Given the description of an element on the screen output the (x, y) to click on. 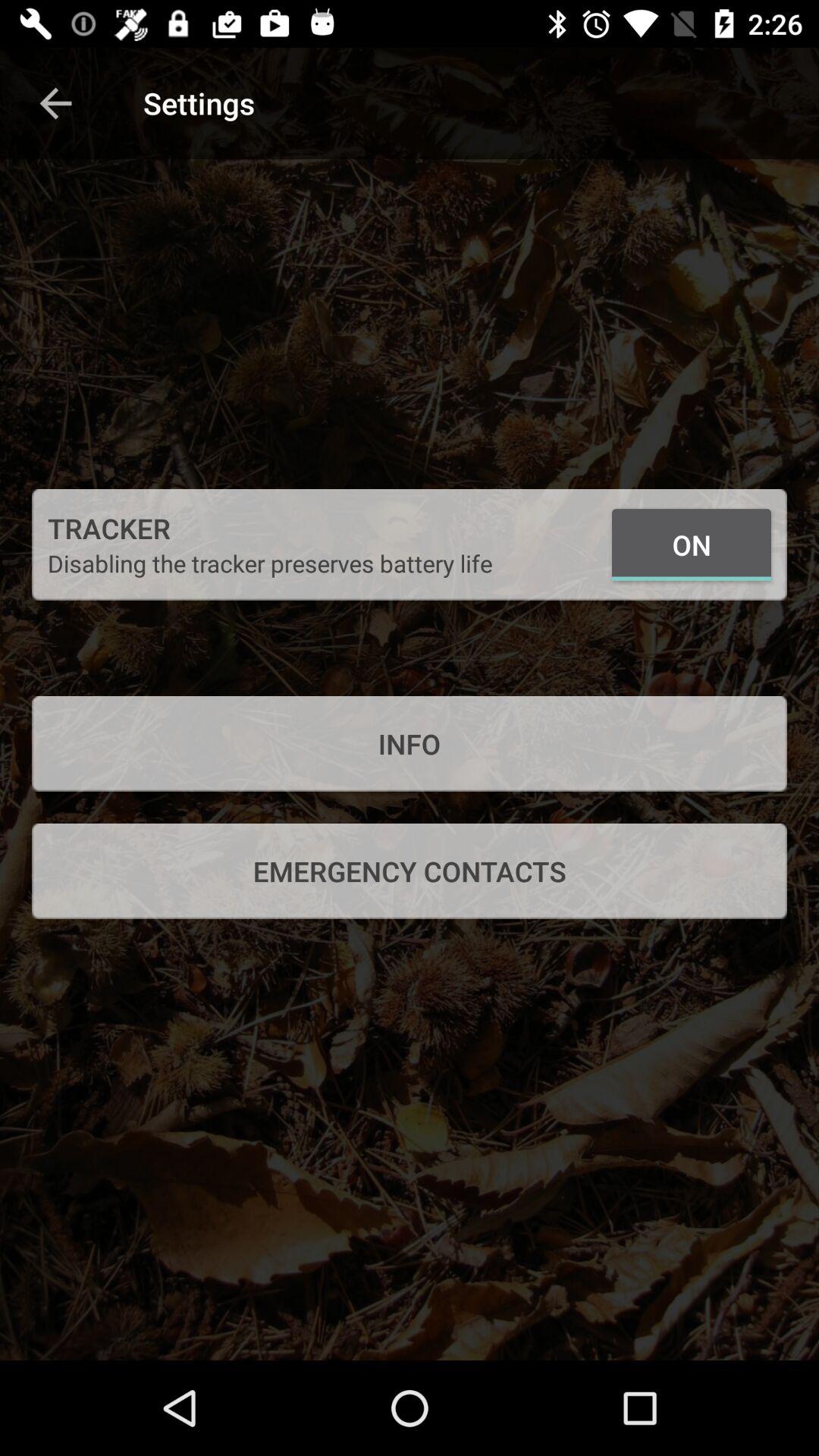
jump to the info item (409, 743)
